Given the description of an element on the screen output the (x, y) to click on. 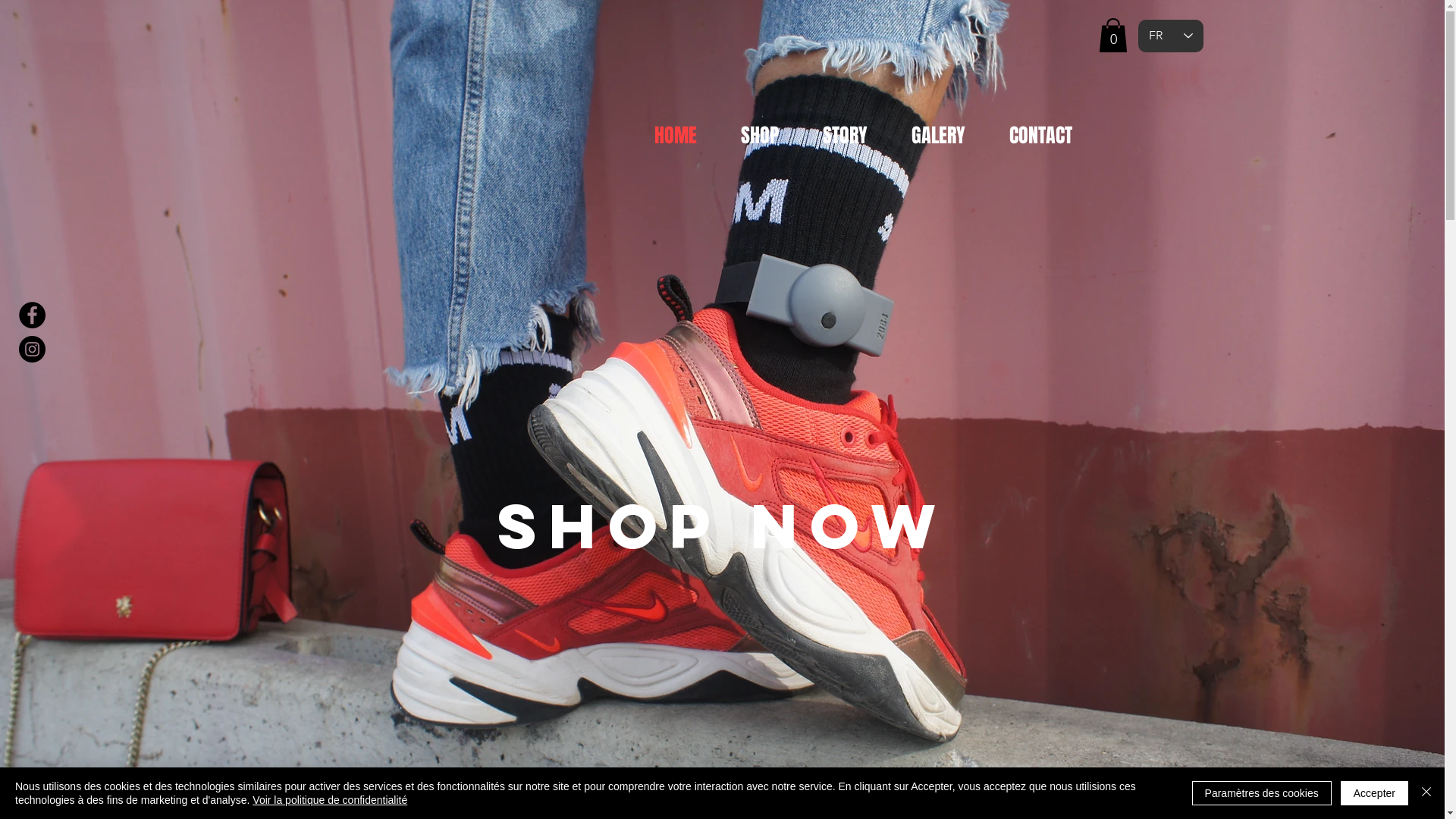
GALERY Element type: text (937, 135)
0 Element type: text (1112, 35)
SHOP Element type: text (759, 135)
HOME Element type: text (675, 135)
CONTACT Element type: text (1040, 135)
Accepter Element type: text (1374, 793)
STORY Element type: text (844, 135)
SHOP NOW Element type: text (722, 525)
